Given the description of an element on the screen output the (x, y) to click on. 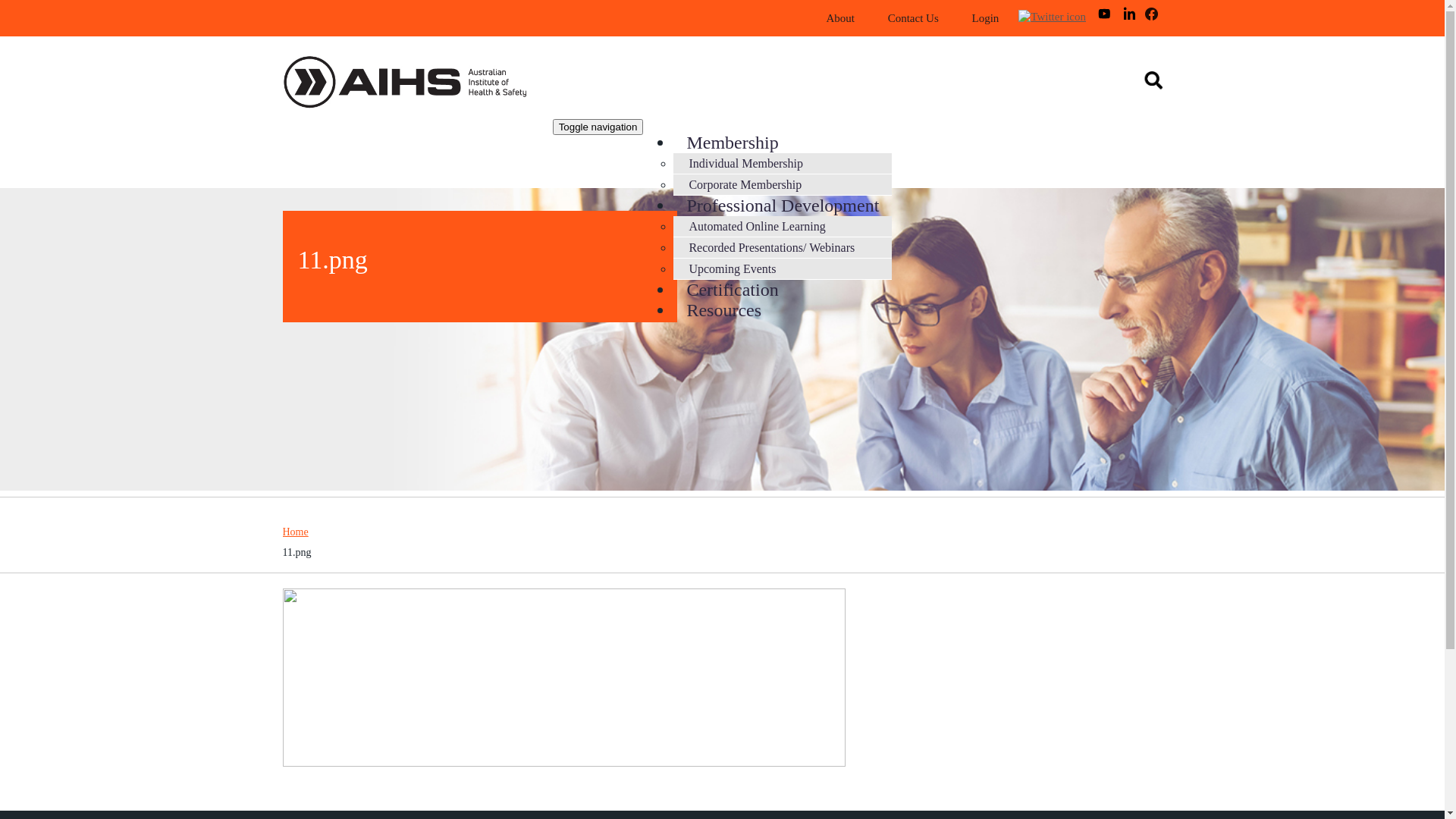
Corporate Membership Element type: text (744, 184)
Certification Element type: text (731, 289)
Contact Us Element type: text (912, 17)
Skip to main content Element type: text (50, 0)
Resources Element type: text (723, 309)
Login Element type: text (984, 17)
Home Element type: hover (418, 84)
Membership Element type: text (731, 142)
About Element type: text (839, 17)
Toggle navigation Element type: text (597, 126)
Automated Online Learning Element type: text (756, 226)
Professional Development Element type: text (782, 205)
Recorded Presentations/ Webinars Element type: text (771, 247)
Upcoming Events Element type: text (731, 268)
Home Element type: text (294, 531)
Individual Membership Element type: text (745, 163)
